Given the description of an element on the screen output the (x, y) to click on. 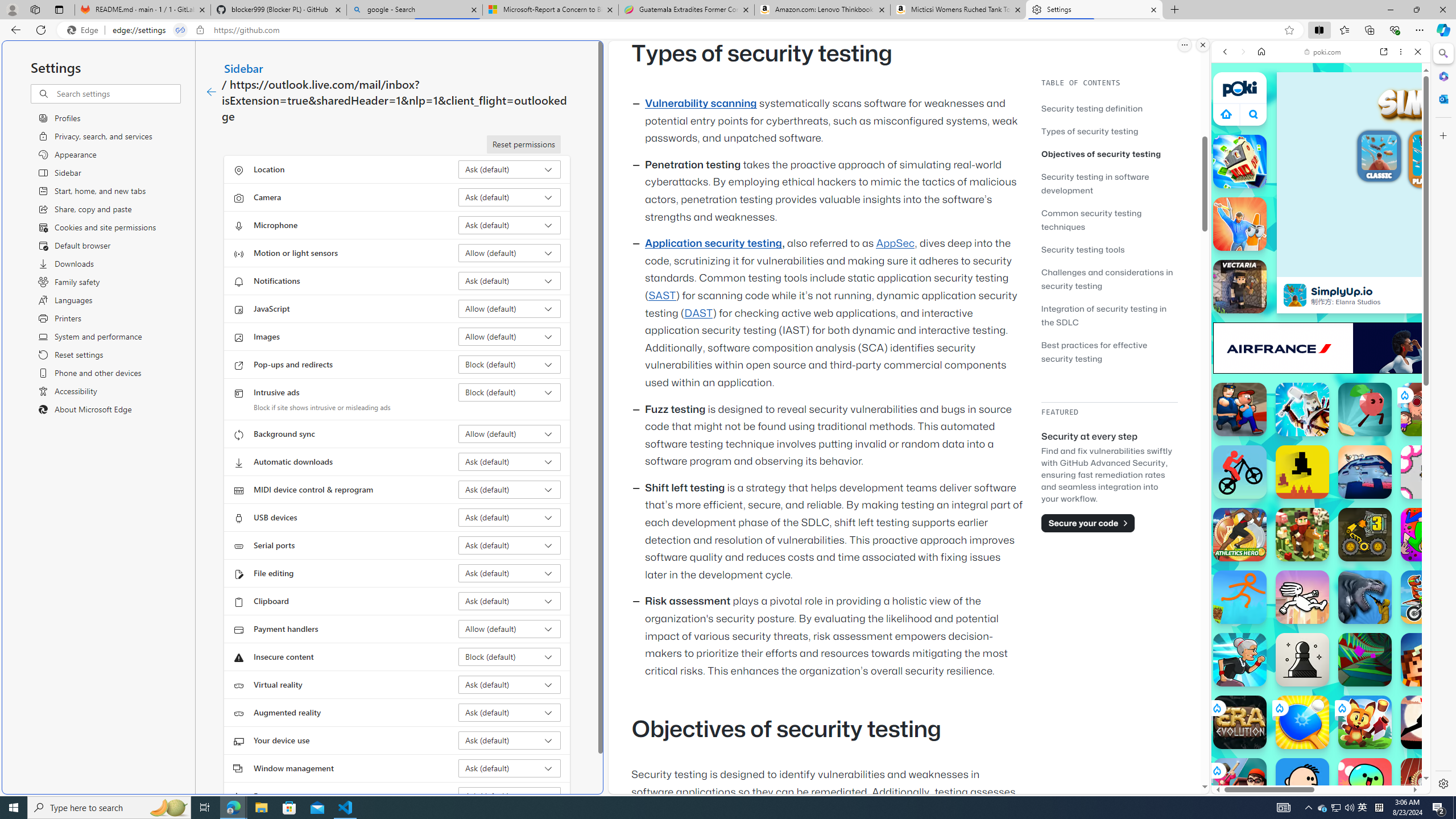
Vulnerability scanning (701, 103)
Class: aprWdaSScyiJf4Jvmsx9 (1225, 113)
The Speed Ninja (1427, 722)
Big Tower Tiny Square (1364, 471)
Types of security testing (1109, 130)
Common security testing techniques (1091, 219)
Combat Reloaded (1349, 580)
MIDI device control & reprogram Ask (default) (509, 489)
Vectaria.io Vectaria.io (1239, 286)
Types of security testing (1089, 130)
